Given the description of an element on the screen output the (x, y) to click on. 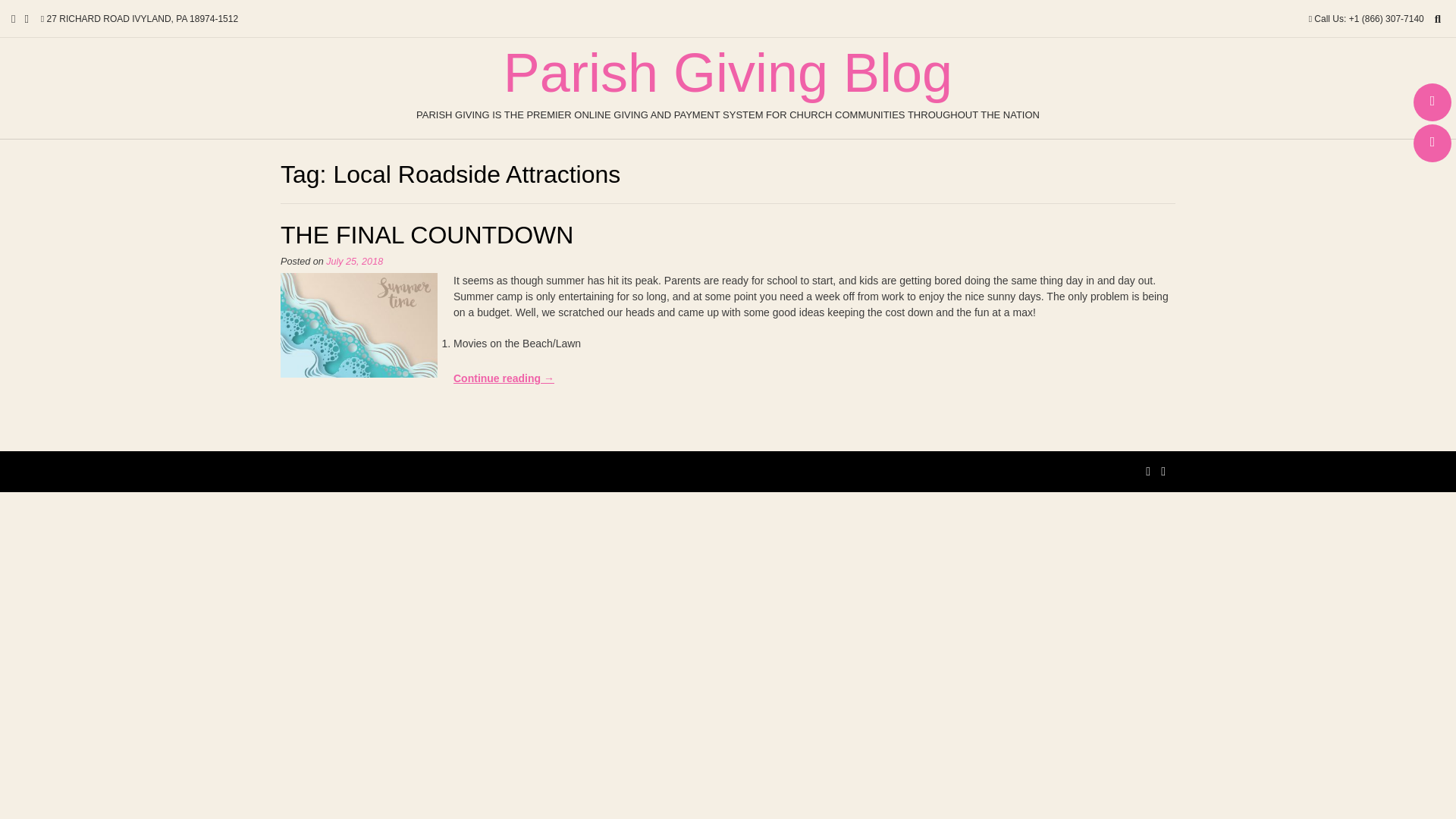
Find us on X (1432, 143)
Find Us on Facebook (1432, 102)
Parish Giving Blog (727, 72)
July 25, 2018 (354, 261)
Parish Giving Blog (727, 72)
THE FINAL COUNTDOWN (427, 234)
